Given the description of an element on the screen output the (x, y) to click on. 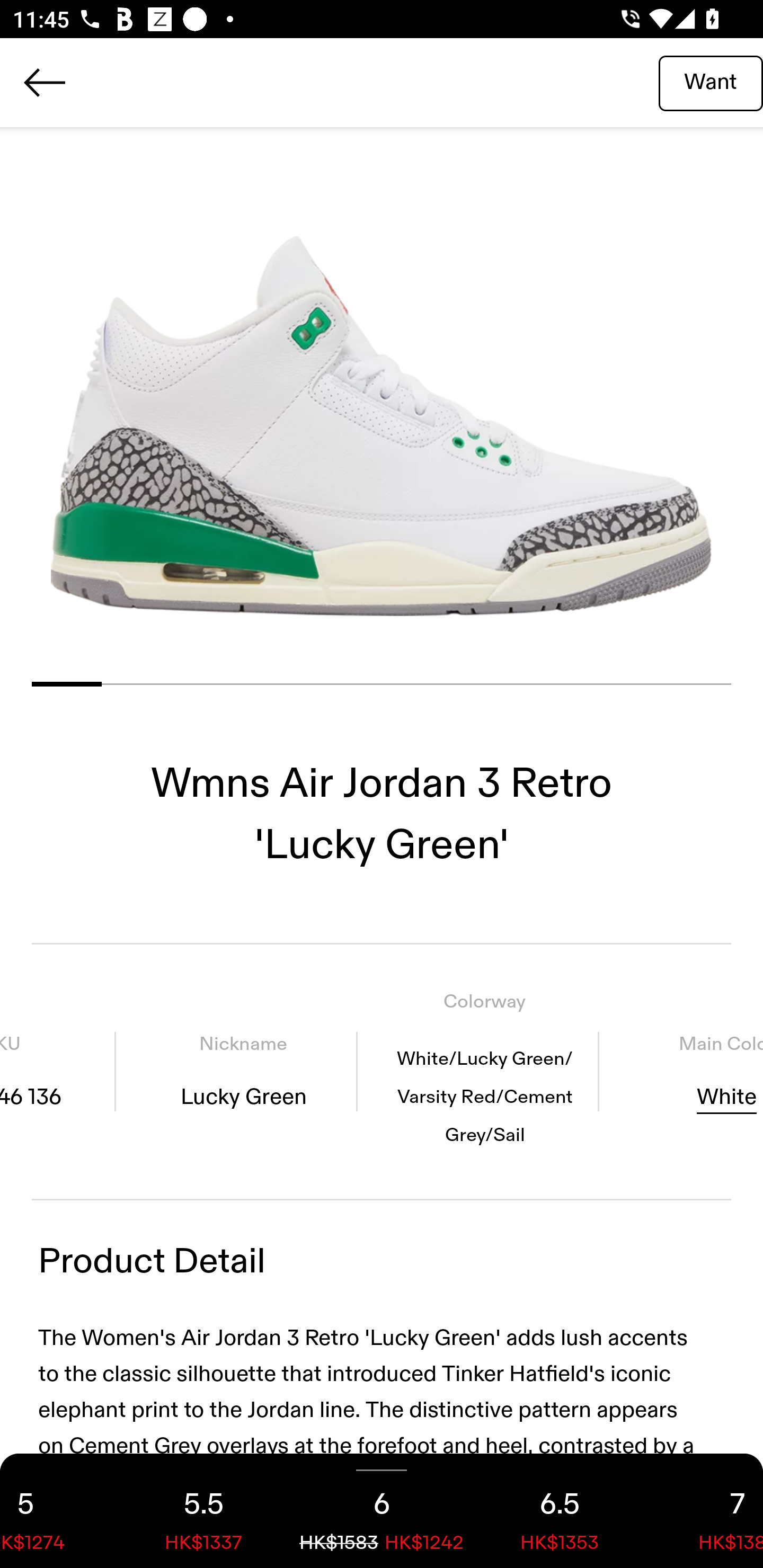
Want (710, 82)
Nickname Lucky Green (242, 1070)
Main Color White (687, 1070)
5 HK$1274 (57, 1510)
5.5 HK$1337 (203, 1510)
6 HK$1583 HK$1242 (381, 1510)
6.5 HK$1353 (559, 1510)
7 HK$1385 (705, 1510)
